Given the description of an element on the screen output the (x, y) to click on. 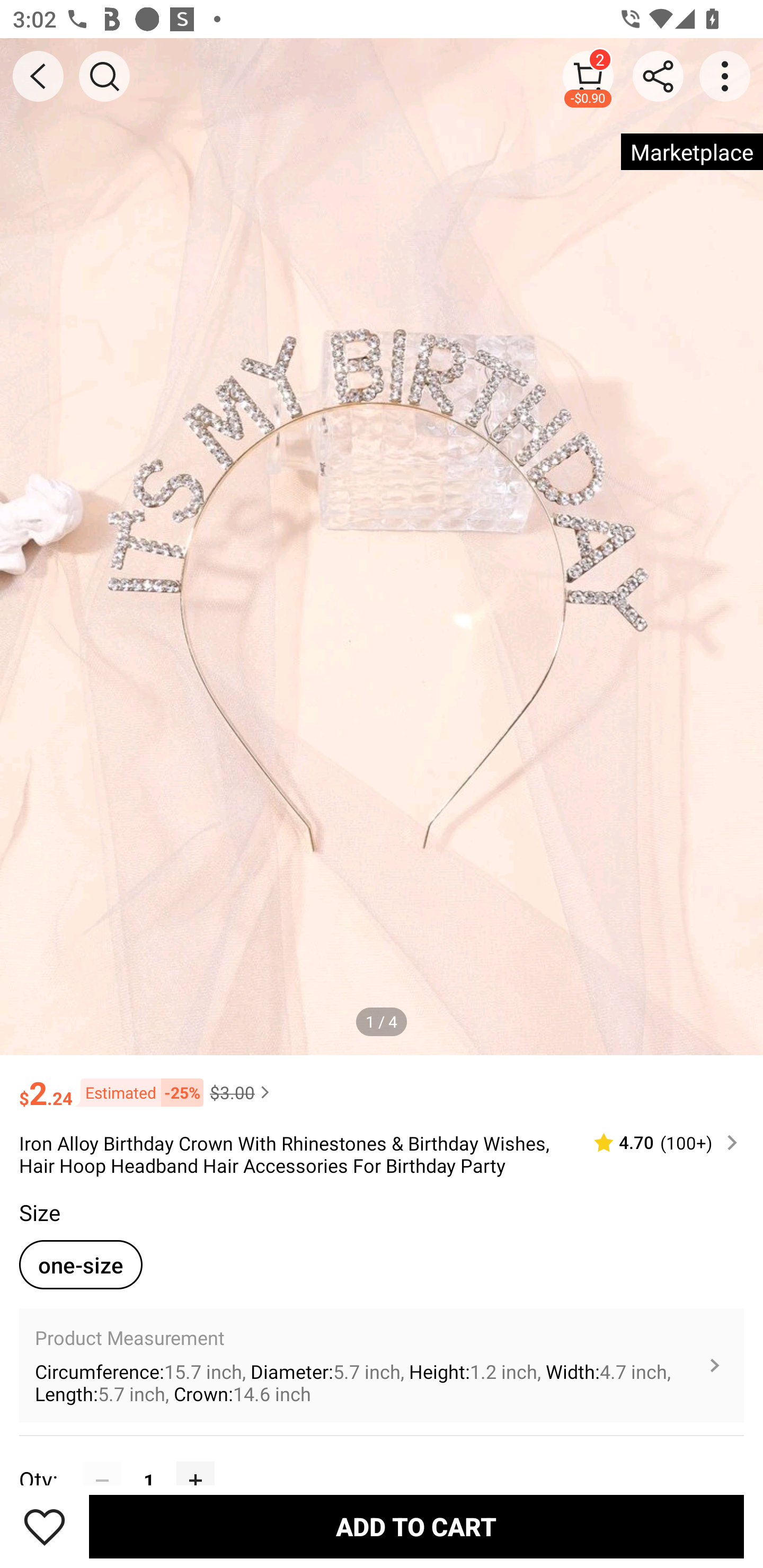
BACK (38, 75)
2 -$0.90 (588, 75)
1 / 4 (381, 1021)
$2.24 Estimated -25% $3.00 (381, 1084)
Estimated -25% (137, 1092)
$3.00 (241, 1091)
4.70 (100‎+) (658, 1142)
Size (39, 1212)
one-size one-sizeselected option (80, 1264)
ADD TO CART (416, 1526)
Save (44, 1526)
